Given the description of an element on the screen output the (x, y) to click on. 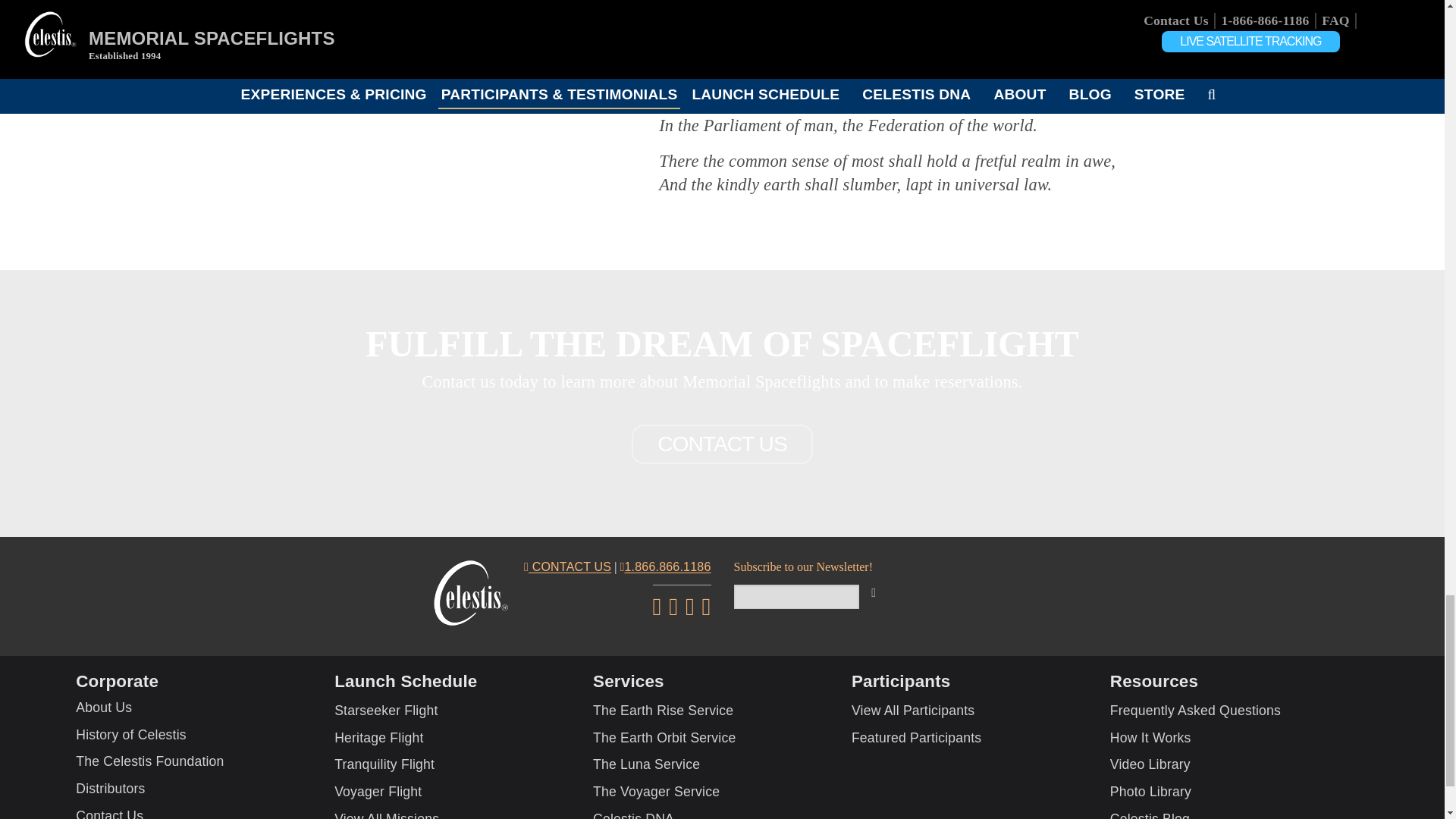
1.866.866.1186 (665, 568)
CONTACT US (567, 568)
CONTACT US (721, 444)
Contact Us Today! (721, 444)
